Given the description of an element on the screen output the (x, y) to click on. 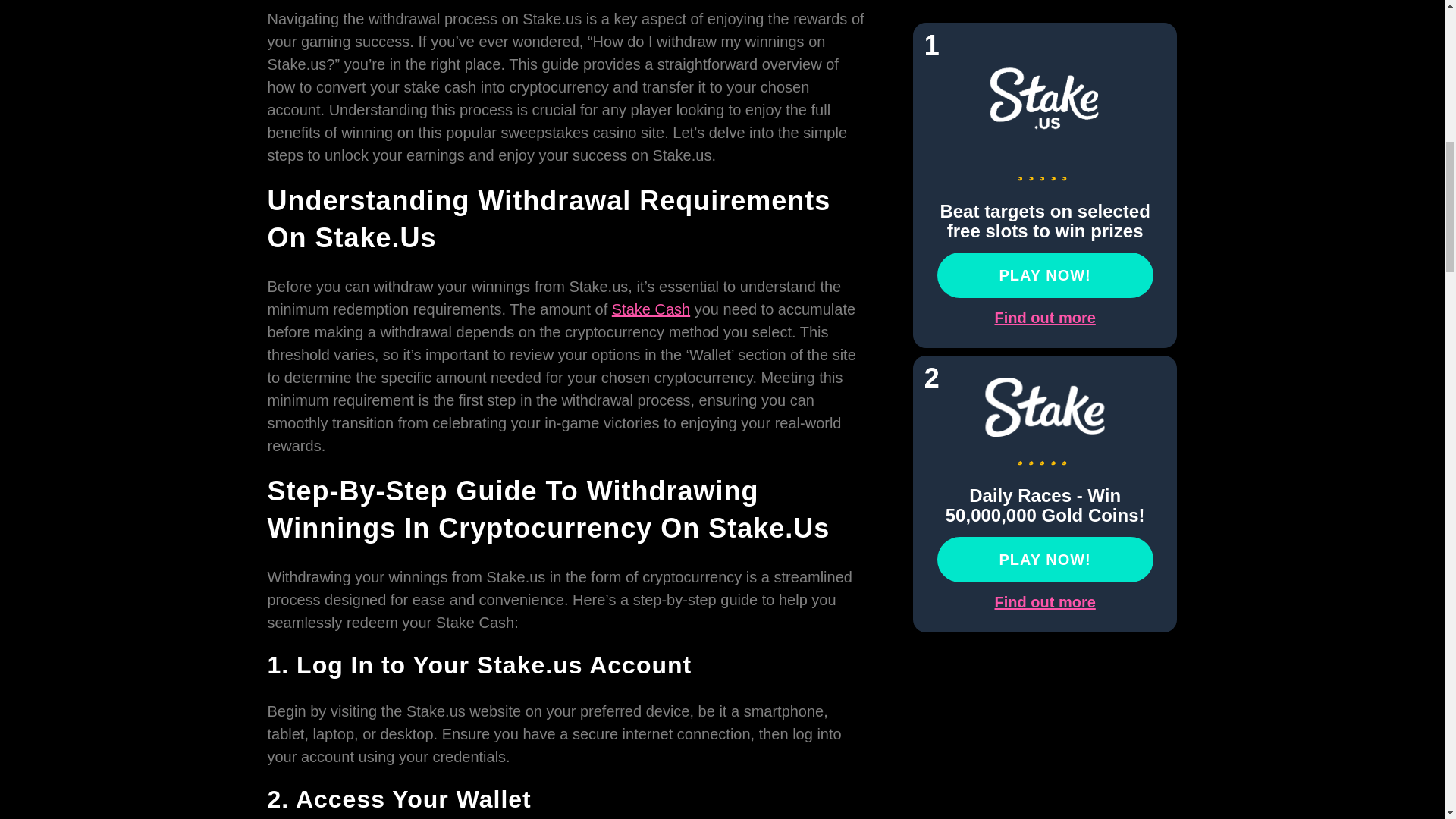
Find out more (1044, 145)
PLAY NOW! (1045, 103)
Find out more (1044, 429)
Stake Cash (650, 309)
PLAY NOW! (1045, 387)
